Given the description of an element on the screen output the (x, y) to click on. 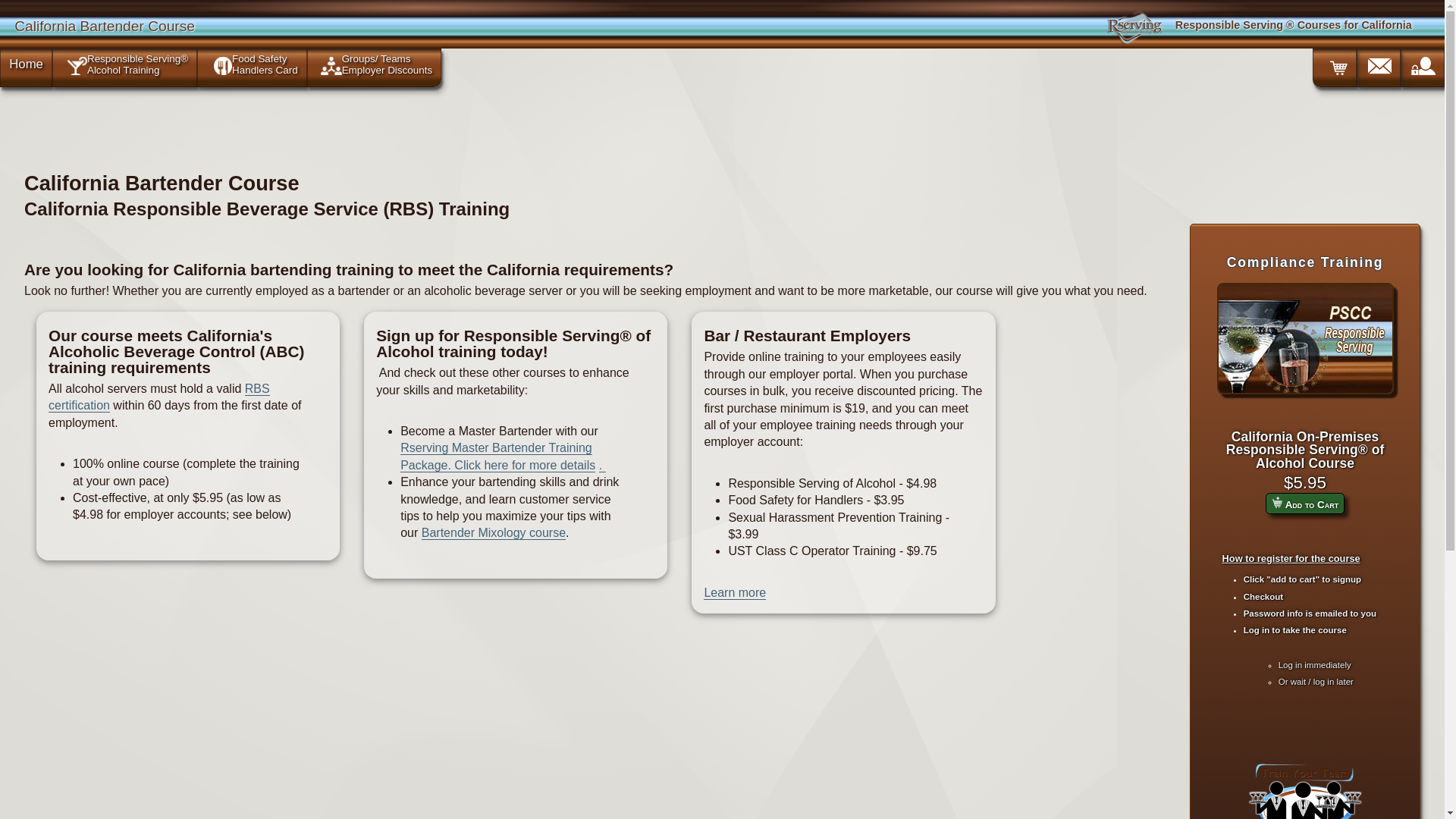
RBS certification (158, 397)
Home (25, 63)
Learn more (734, 592)
Add to Cart (1304, 503)
Add to Cart (1276, 501)
Train your team - click for team discounts (1304, 789)
Bartender Mixology course (494, 532)
